Given the description of an element on the screen output the (x, y) to click on. 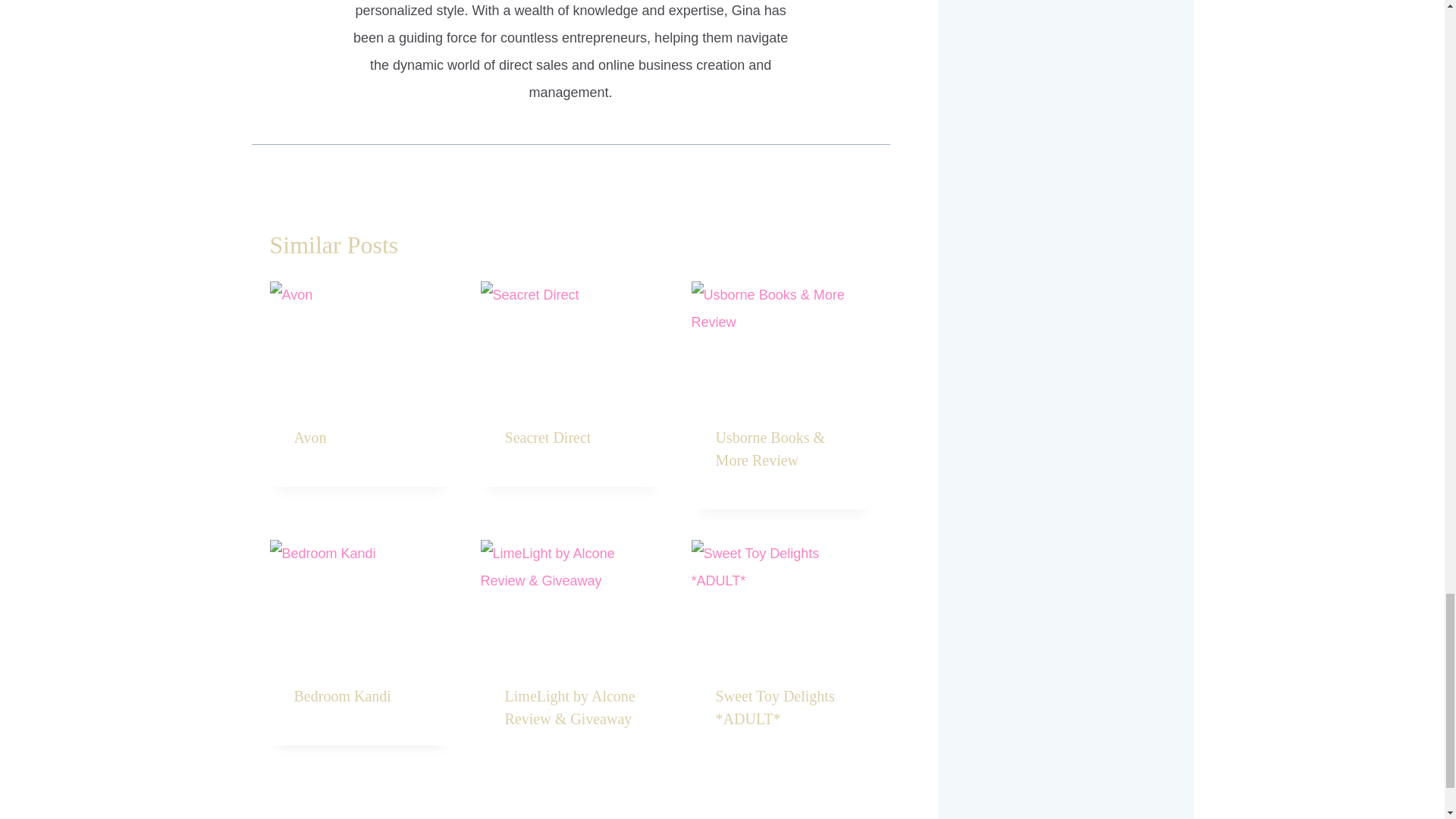
Avon (310, 437)
Seacret Direct (548, 437)
Bedroom Kandi (342, 695)
